Given the description of an element on the screen output the (x, y) to click on. 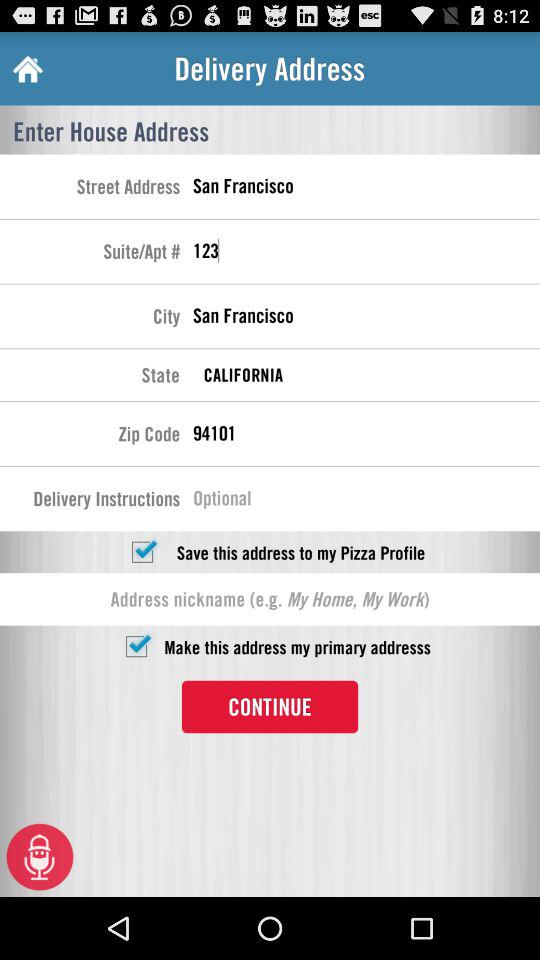
select checkbox setting primary address (136, 646)
